Given the description of an element on the screen output the (x, y) to click on. 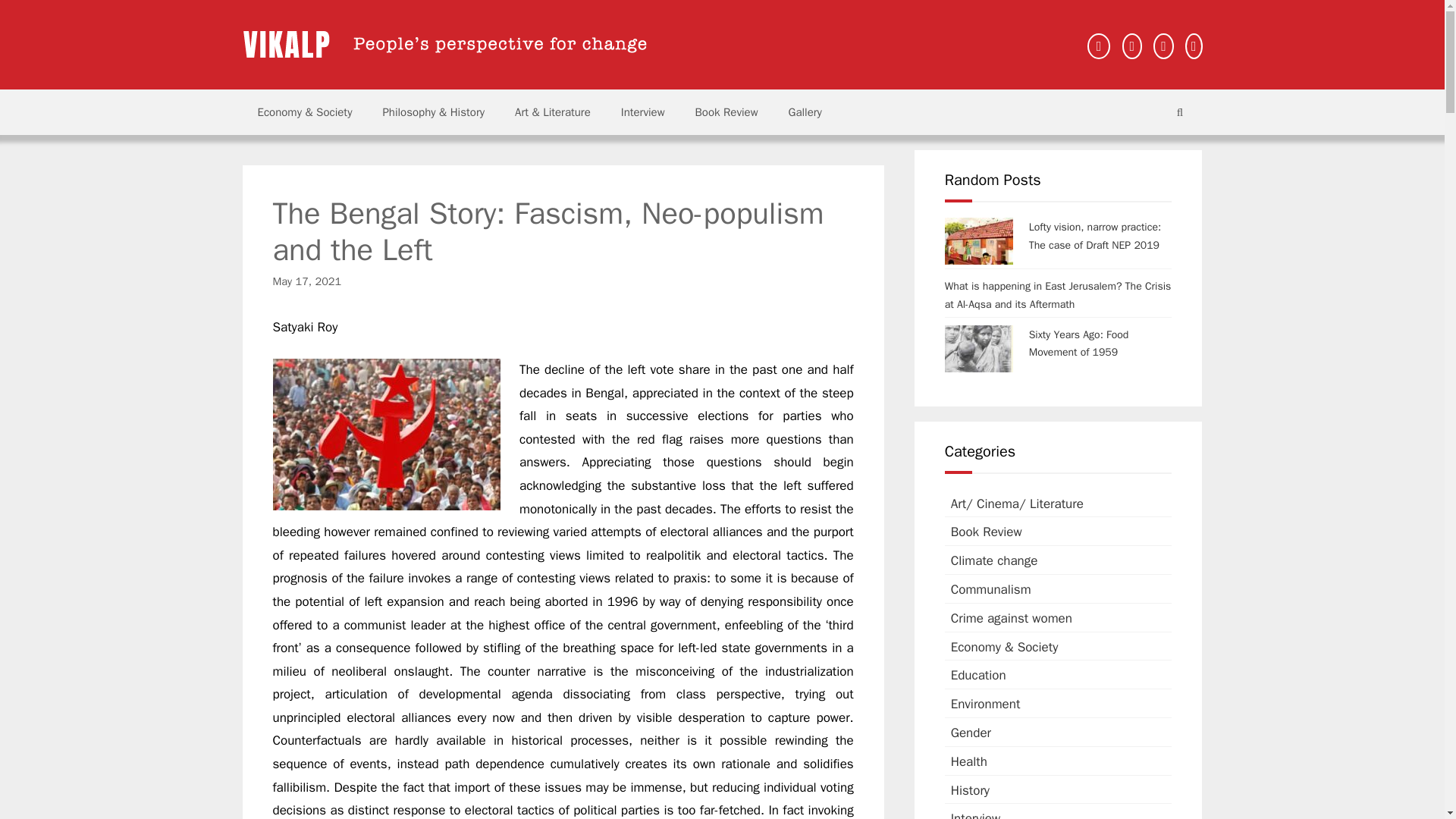
Book Review (726, 112)
VIKALP (444, 44)
3:22 pm (307, 281)
Gallery (805, 112)
Interview (642, 112)
VIKALP (444, 43)
